Given the description of an element on the screen output the (x, y) to click on. 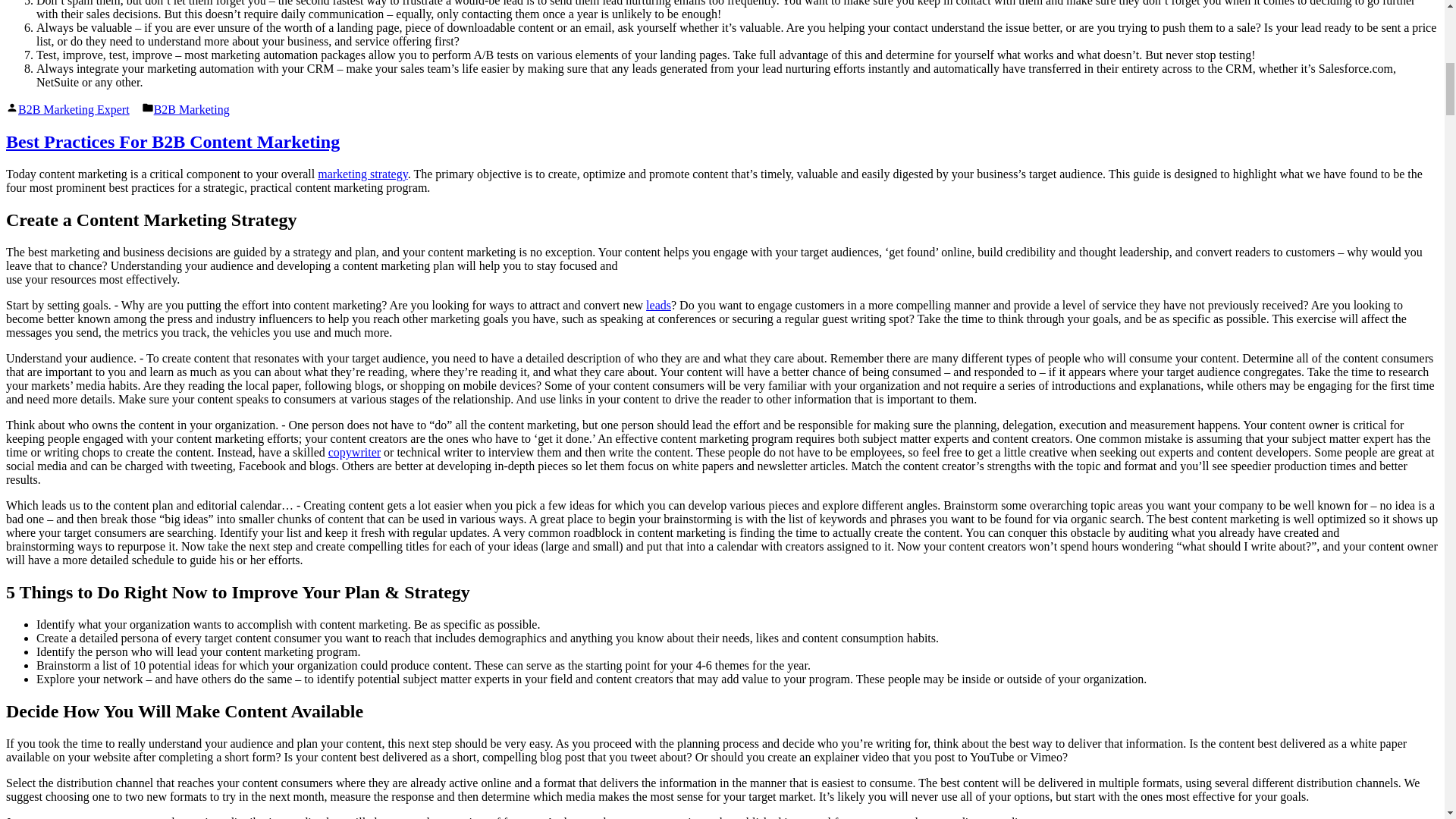
Best Practices For B2B Content Marketing (172, 141)
copywriter (354, 451)
B2B Marketing Expert (73, 109)
B2B Marketing (192, 109)
leads (658, 305)
marketing strategy (362, 173)
